Given the description of an element on the screen output the (x, y) to click on. 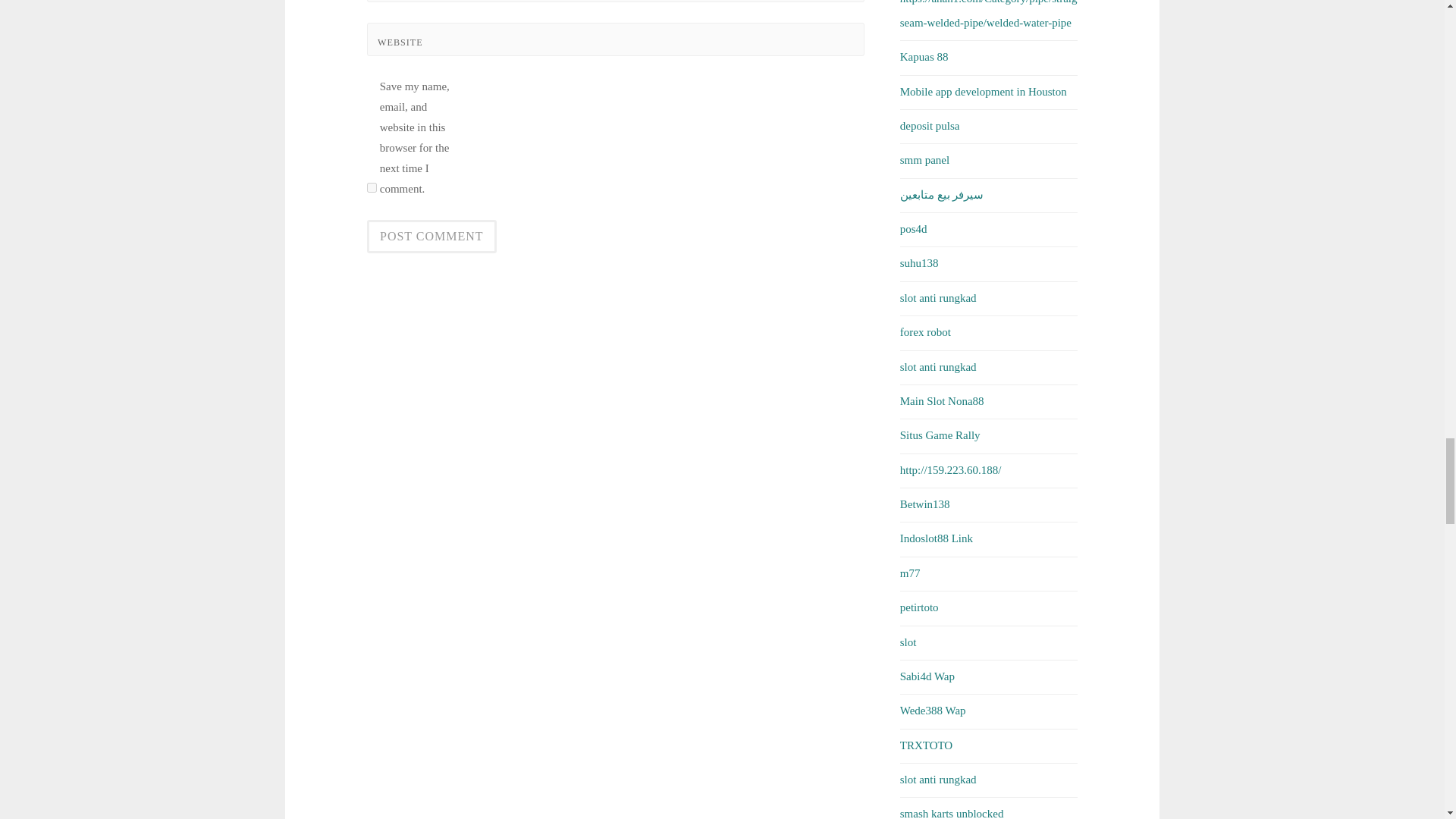
yes (371, 187)
Post Comment (431, 236)
Post Comment (431, 236)
